Given the description of an element on the screen output the (x, y) to click on. 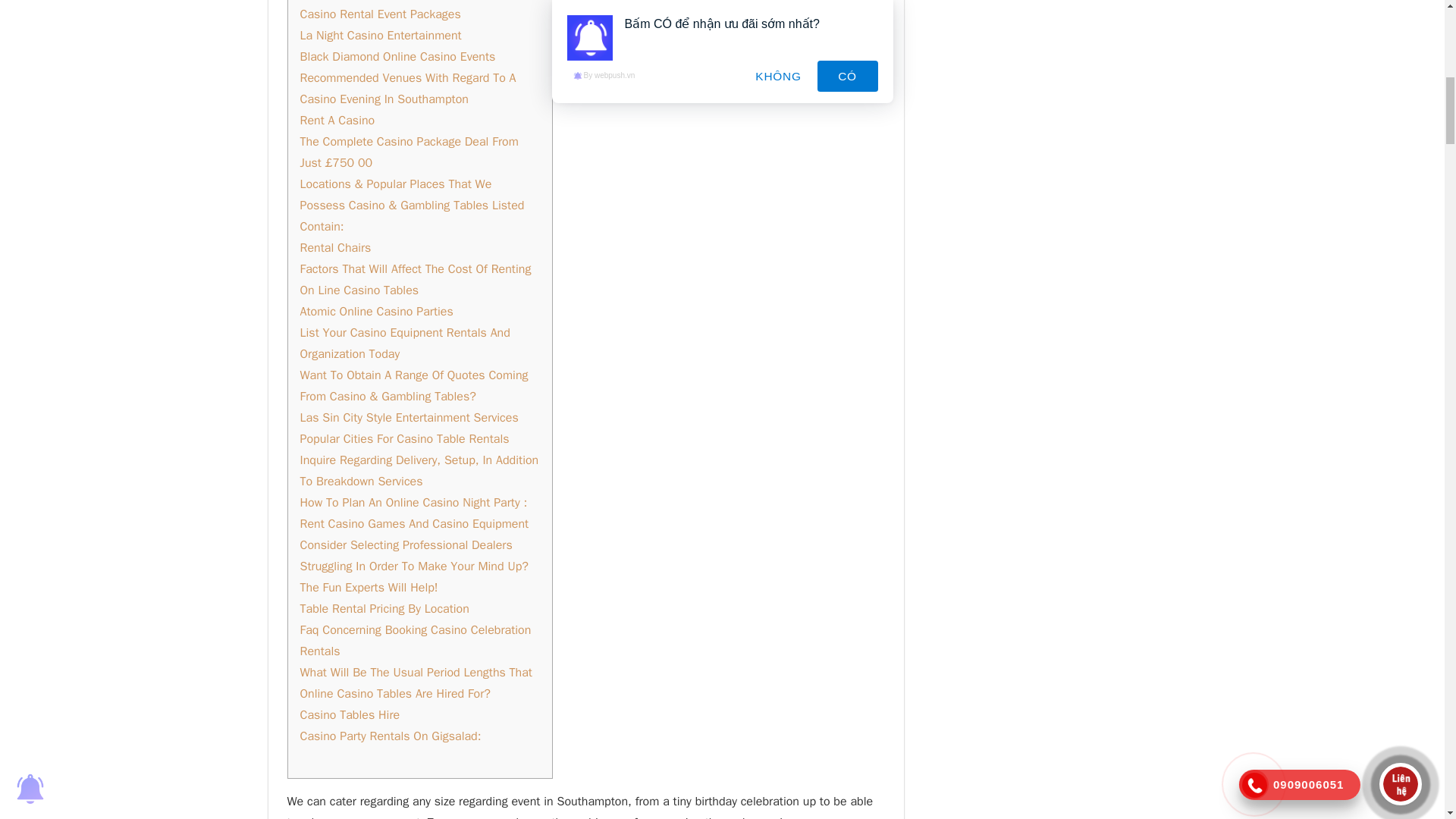
La Night Casino Entertainment (380, 35)
Rent A Casino (337, 120)
Black Diamond Online Casino Events (397, 56)
Casino Rental Event Packages (380, 14)
